Given the description of an element on the screen output the (x, y) to click on. 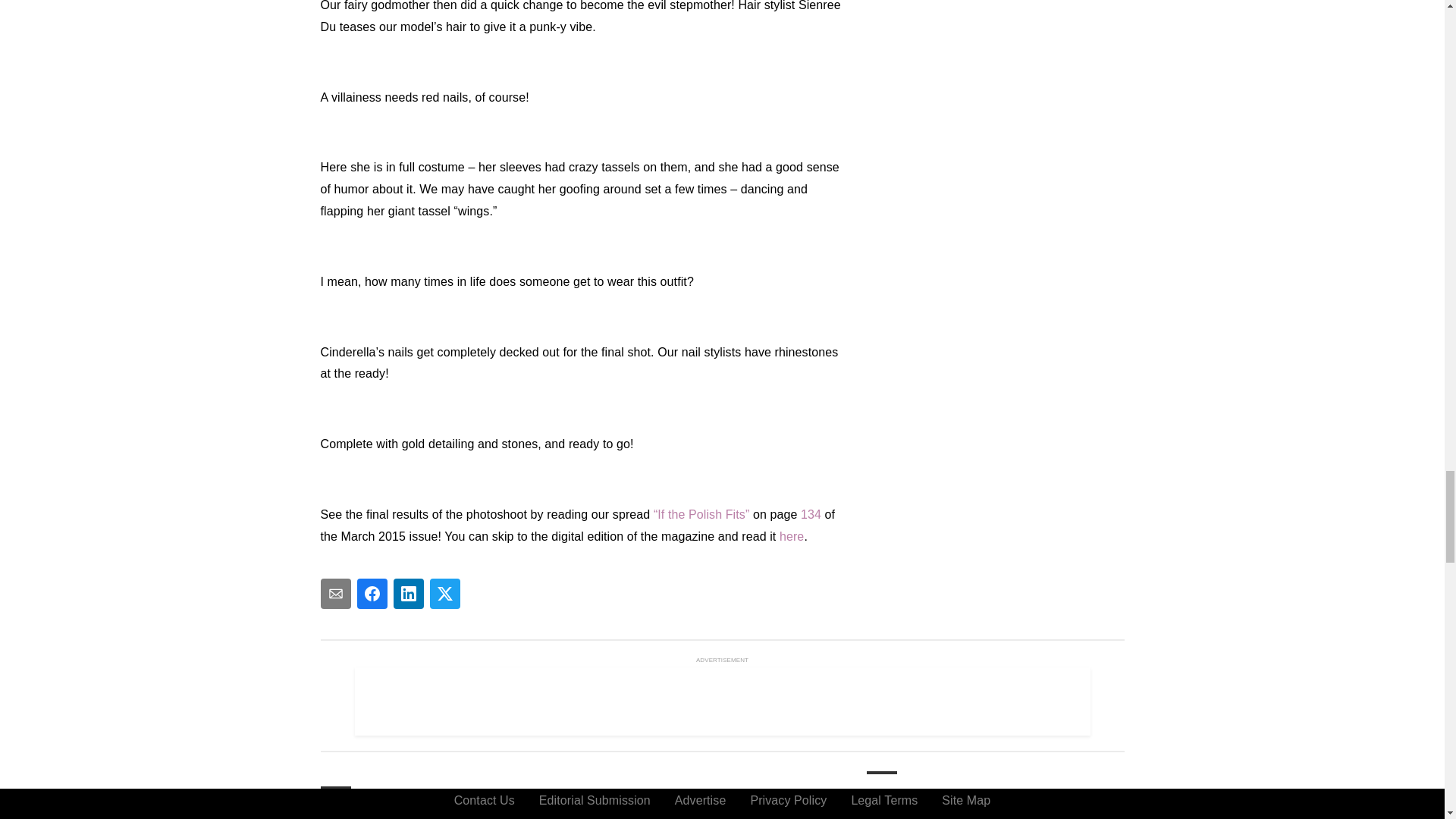
Share To linkedin (408, 593)
Share To email (335, 593)
Share To twitter (444, 593)
Share To facebook (371, 593)
